Given the description of an element on the screen output the (x, y) to click on. 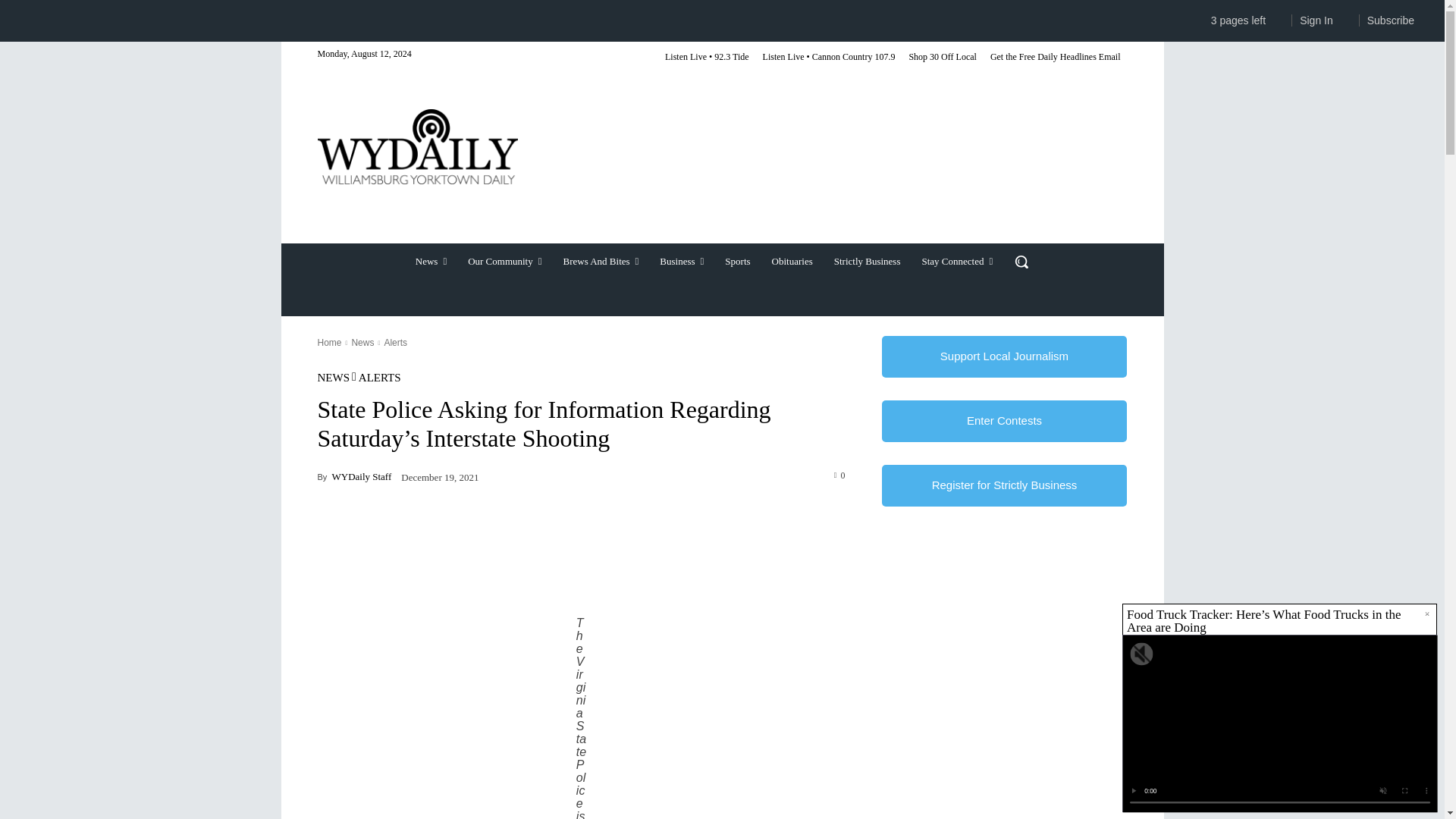
Get the Free Daily Headlines Email (1055, 56)
View all posts in News (362, 342)
News (430, 261)
View all posts in Alerts (395, 342)
3rd party ad content (832, 172)
Shop 30 Off Local (941, 56)
